Given the description of an element on the screen output the (x, y) to click on. 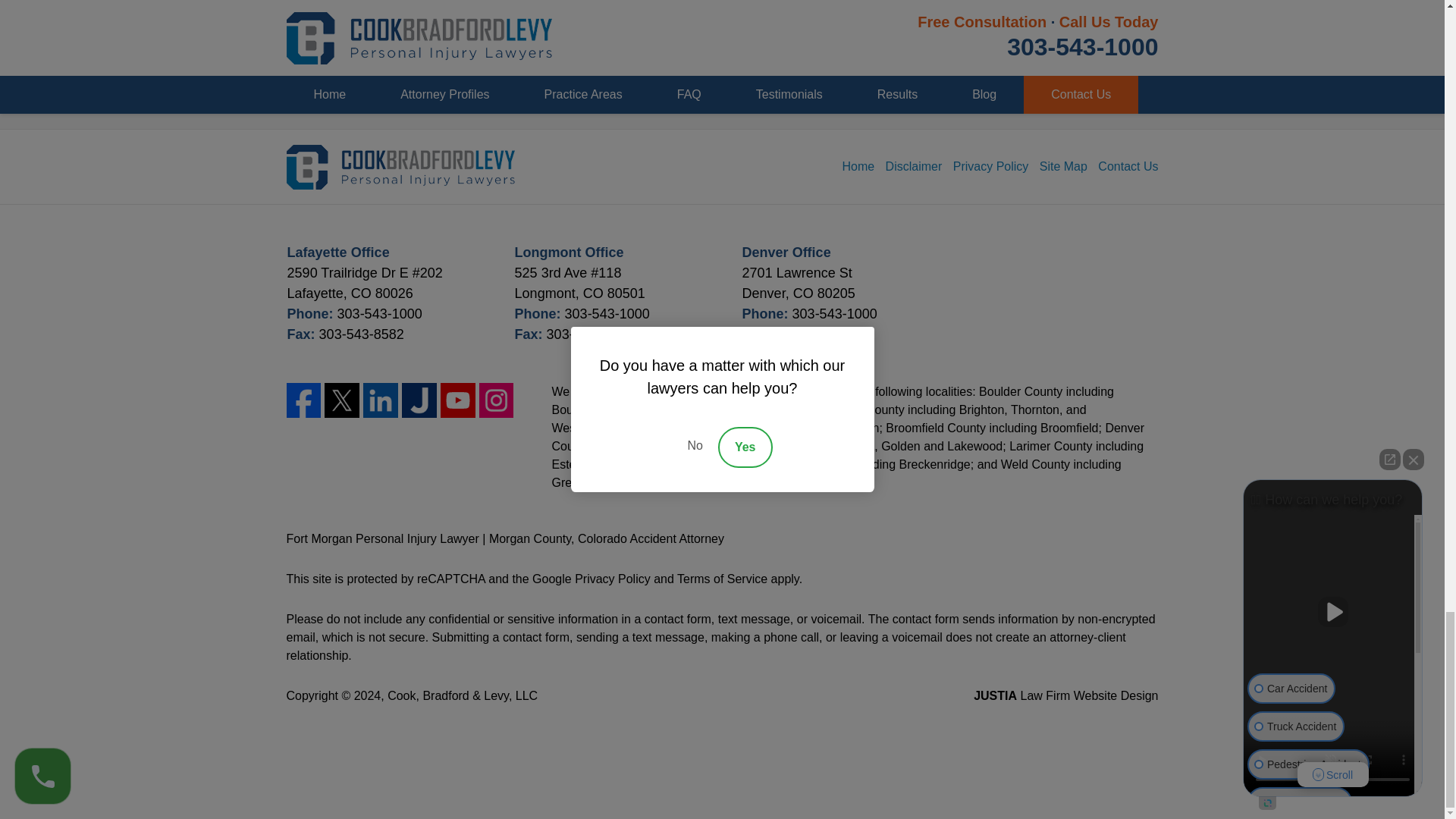
YouTube (458, 400)
Twitter (341, 400)
Instagram (496, 400)
Justia (418, 400)
LinkedIn (379, 400)
Facebook (303, 400)
